Given the description of an element on the screen output the (x, y) to click on. 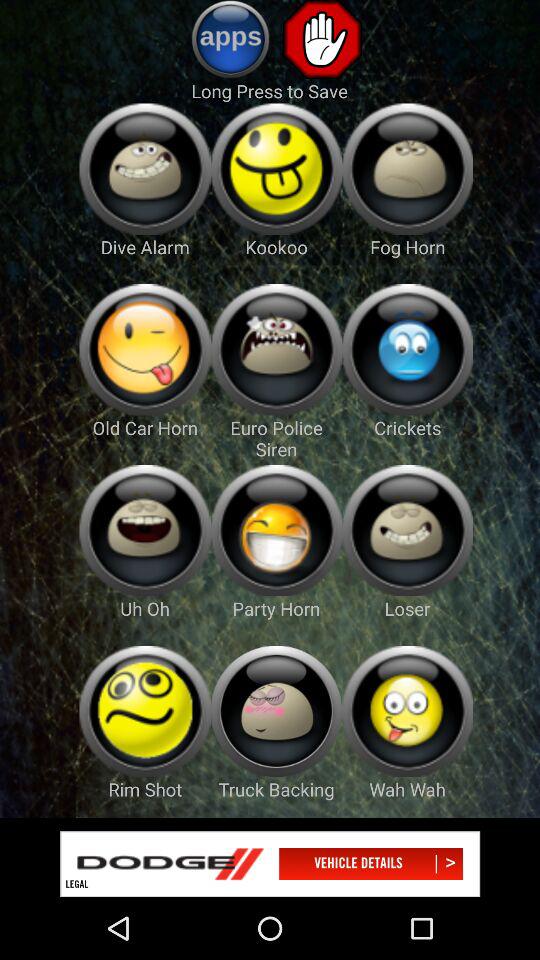
select apps button (230, 39)
